Given the description of an element on the screen output the (x, y) to click on. 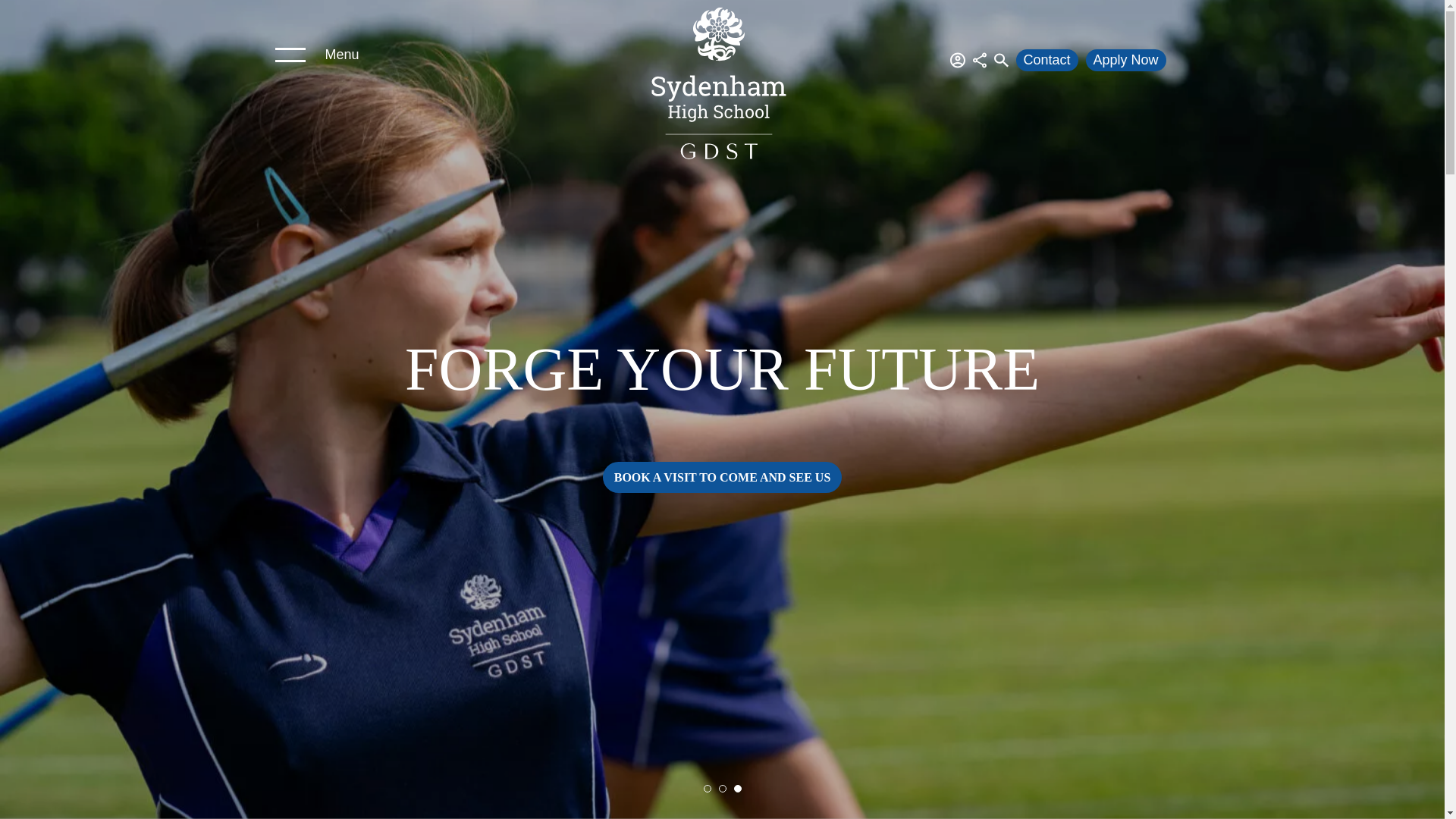
Apply Now (1126, 60)
Contact (1047, 60)
